Given the description of an element on the screen output the (x, y) to click on. 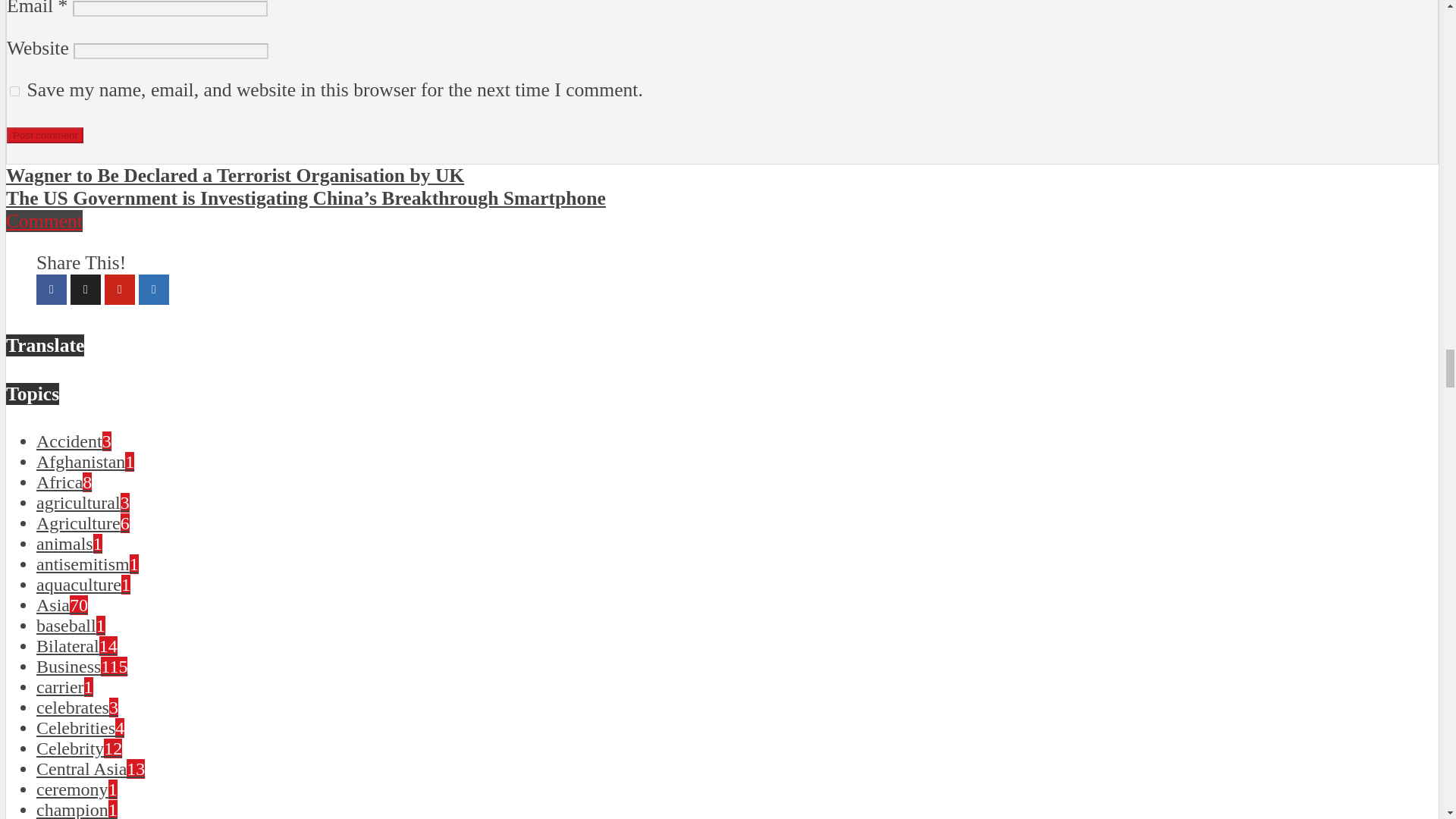
yes (15, 91)
Post comment (44, 135)
